Given the description of an element on the screen output the (x, y) to click on. 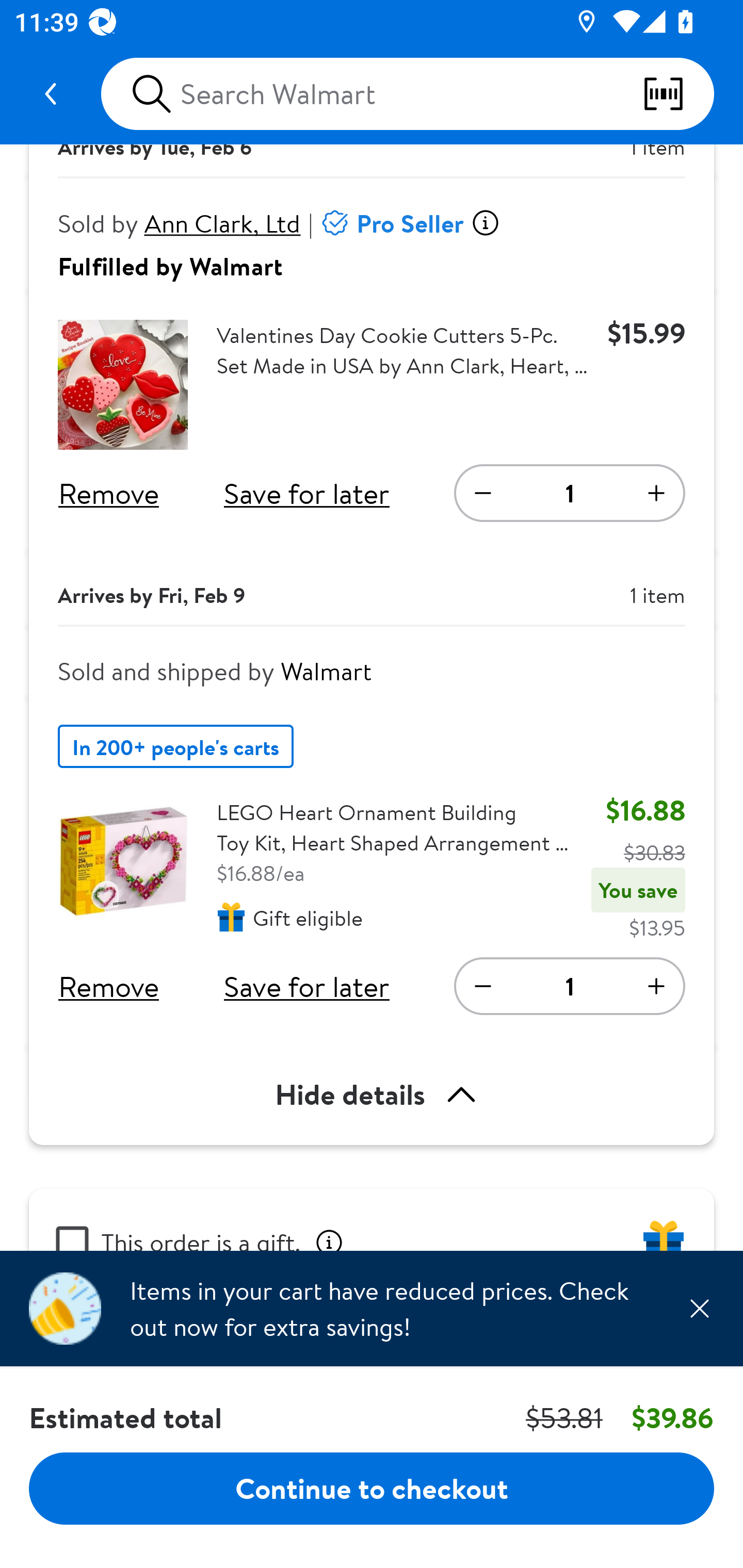
Navigate up (50, 93)
Search Walmart Opens barcode scanner (407, 94)
Opens barcode scanner (677, 94)
Sold by Ann Clark, Ltd (178, 223)
Info for Pro Seller (485, 222)
Item image (122, 384)
Item image (122, 861)
Hide details Expanded Hide details (371, 1094)
This order is a gift. Learn more about gifting (371, 1219)
Learn more about gifting (329, 1239)
Close (699, 1308)
Continue to checkout (371, 1487)
